Given the description of an element on the screen output the (x, y) to click on. 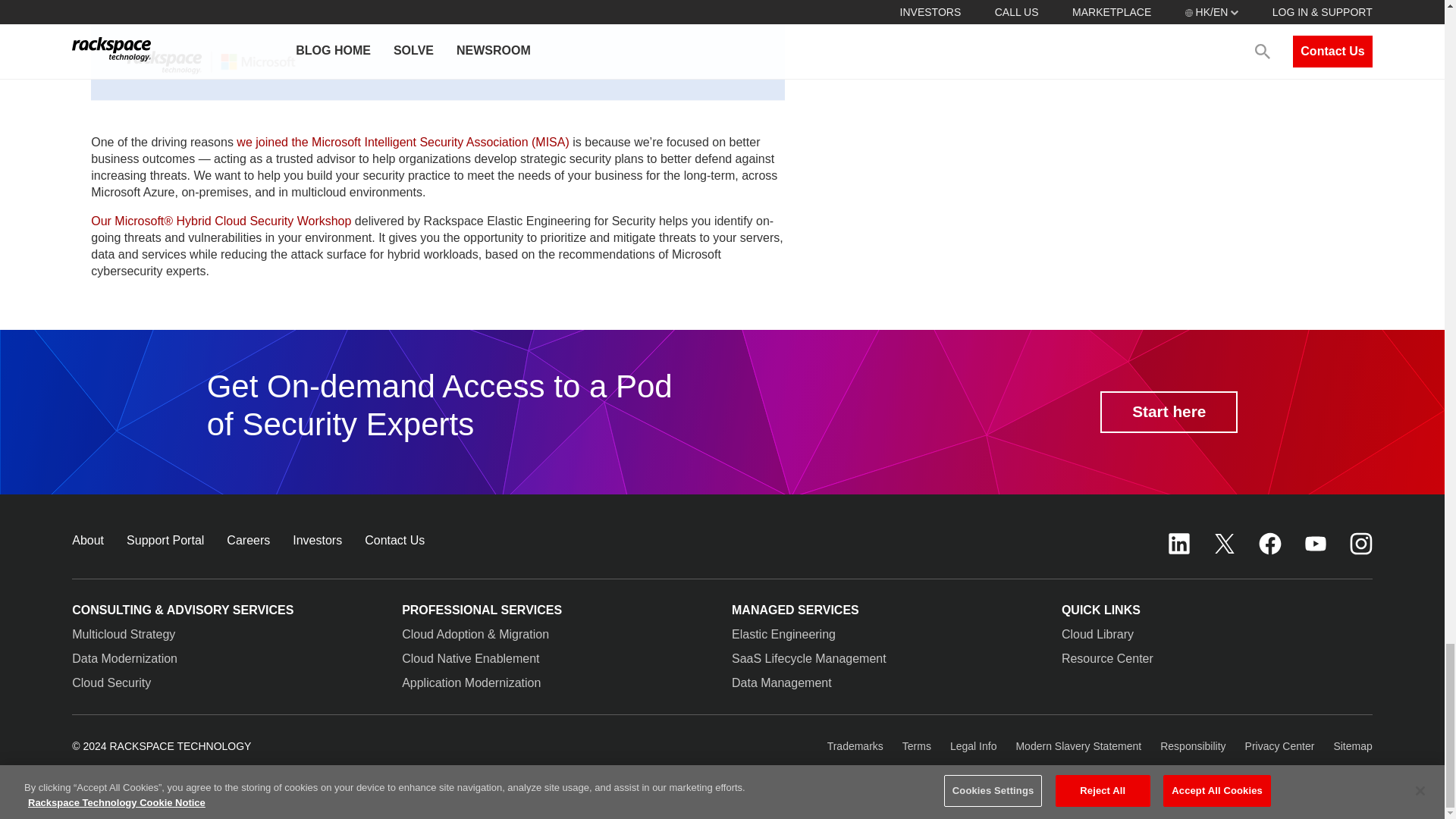
Start here (1168, 412)
About (87, 540)
